Given the description of an element on the screen output the (x, y) to click on. 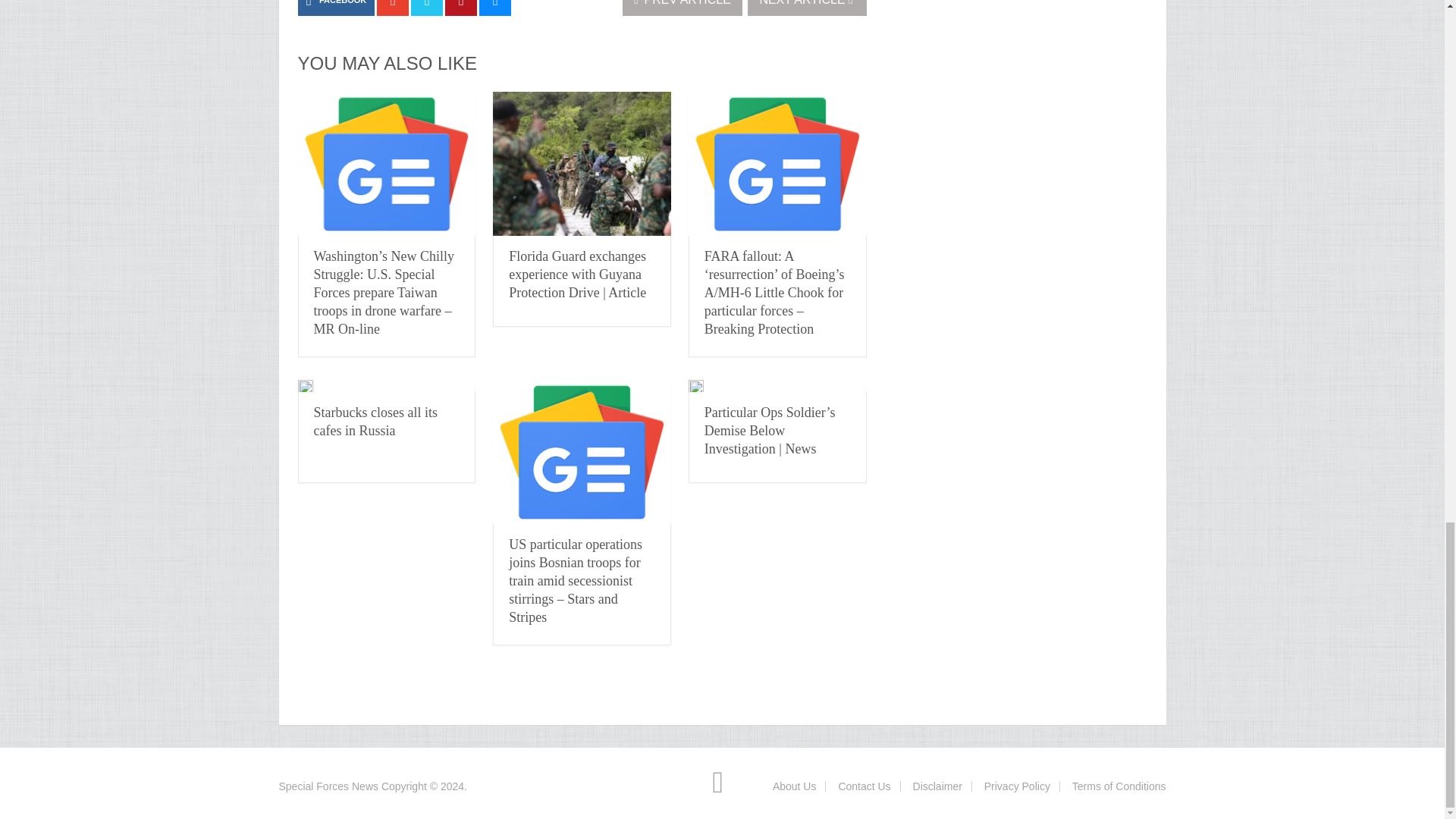
Starbucks closes all its cafes in Russia (305, 386)
Starbucks closes all its cafes in Russia (376, 421)
PREV ARTICLE (682, 7)
NEXT ARTICLE (807, 7)
FACEBOOK (335, 7)
